Given the description of an element on the screen output the (x, y) to click on. 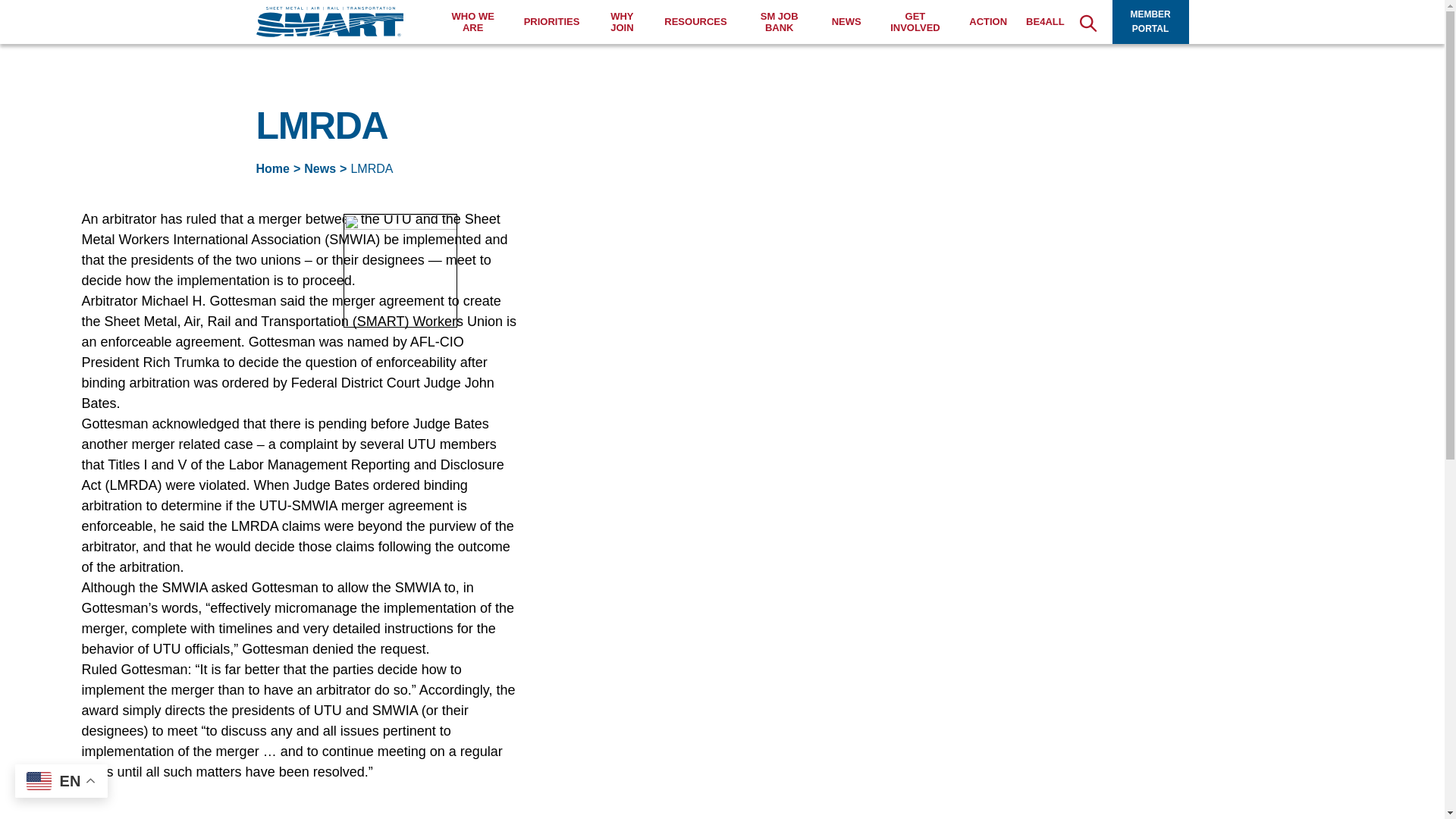
Go to SMART Union. (272, 168)
WHY JOIN (621, 22)
WHO WE ARE (473, 22)
Go to News. (320, 168)
PRIORITIES (551, 21)
